Given the description of an element on the screen output the (x, y) to click on. 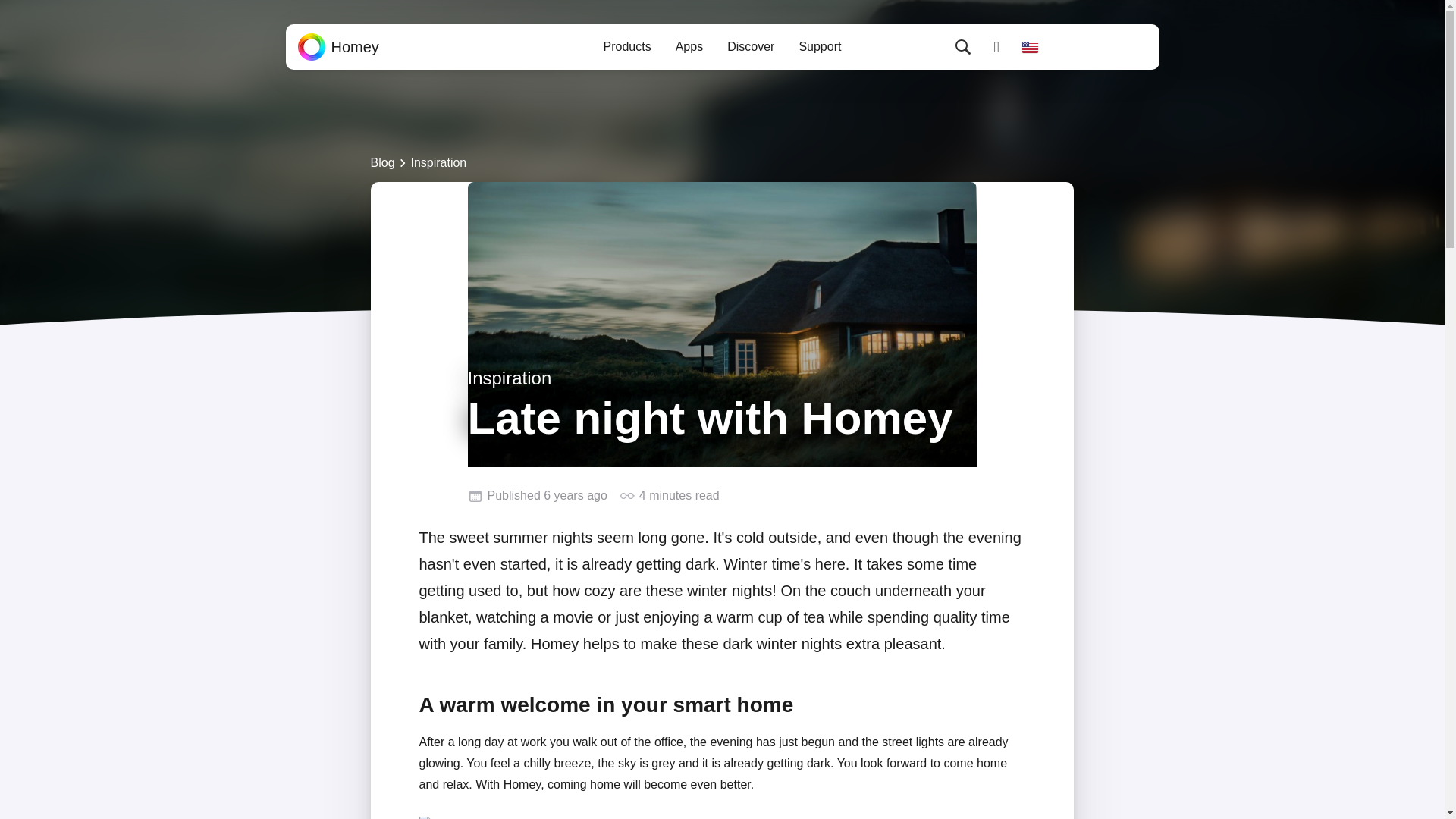
Start for Free (1101, 46)
Choose your country (1029, 46)
Discover (750, 46)
Products (627, 46)
Apps (688, 46)
Home (337, 46)
Login (996, 46)
Support (819, 46)
Search (962, 46)
Homey (337, 46)
